Given the description of an element on the screen output the (x, y) to click on. 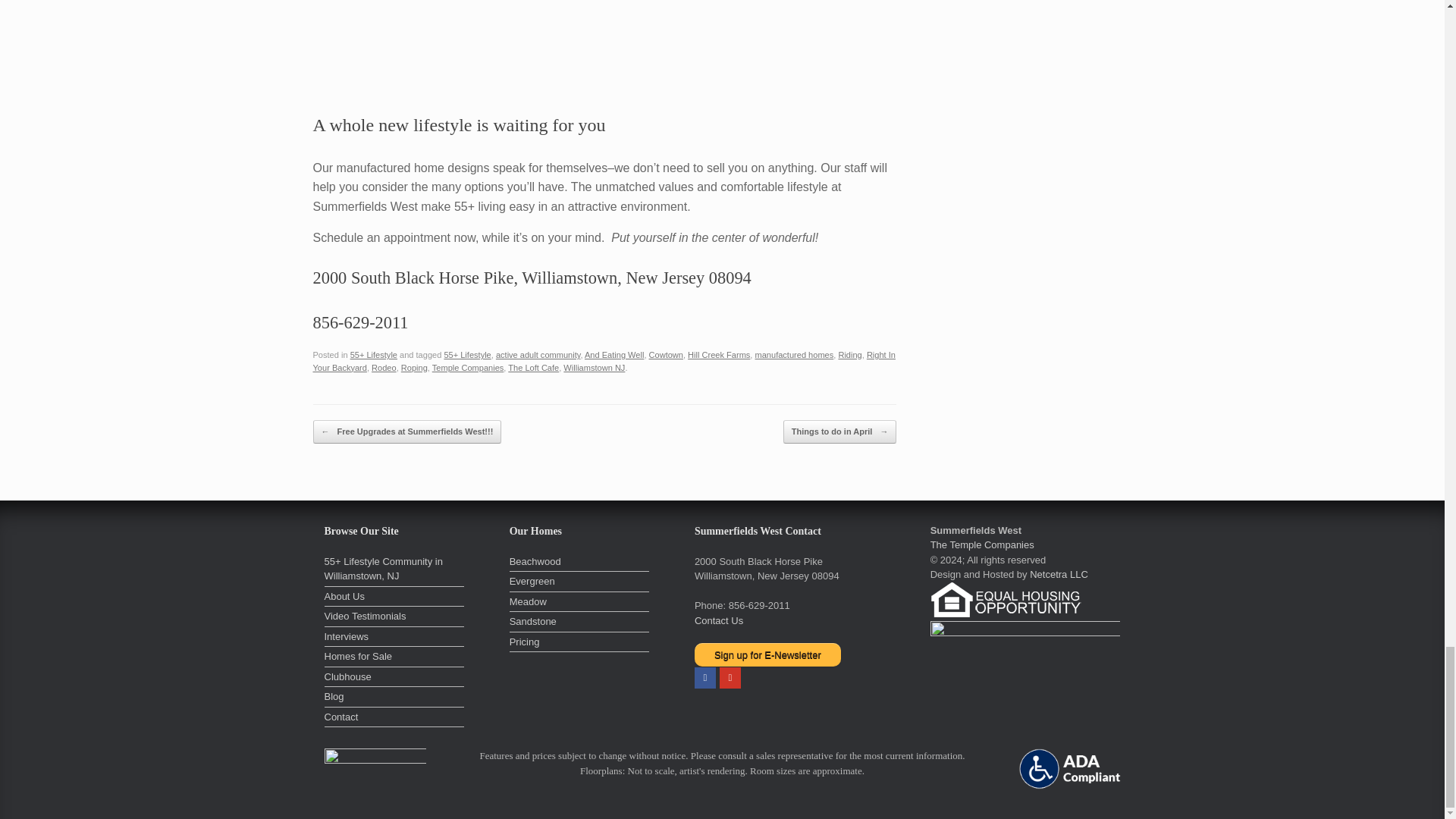
active adult community (538, 354)
Cowtown (665, 354)
Summerfields West on Facebook (705, 677)
Summerfields West on Youtube (730, 677)
Hill Creek Farms (718, 354)
And Eating Well (614, 354)
